Given the description of an element on the screen output the (x, y) to click on. 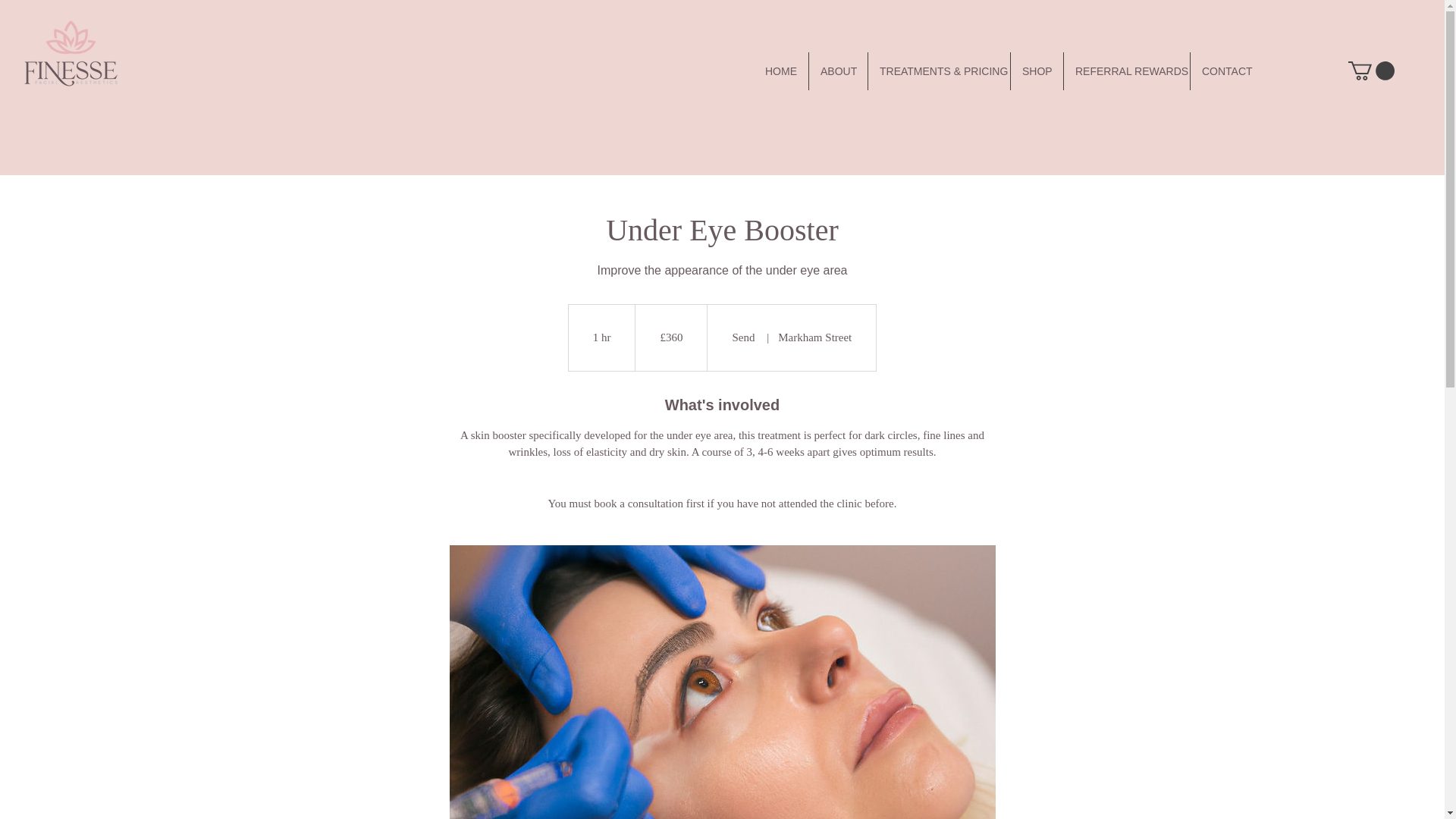
SHOP (1036, 71)
ABOUT (838, 71)
HOME (780, 71)
REFERRAL REWARDS (1126, 71)
CONTACT (1227, 71)
